Given the description of an element on the screen output the (x, y) to click on. 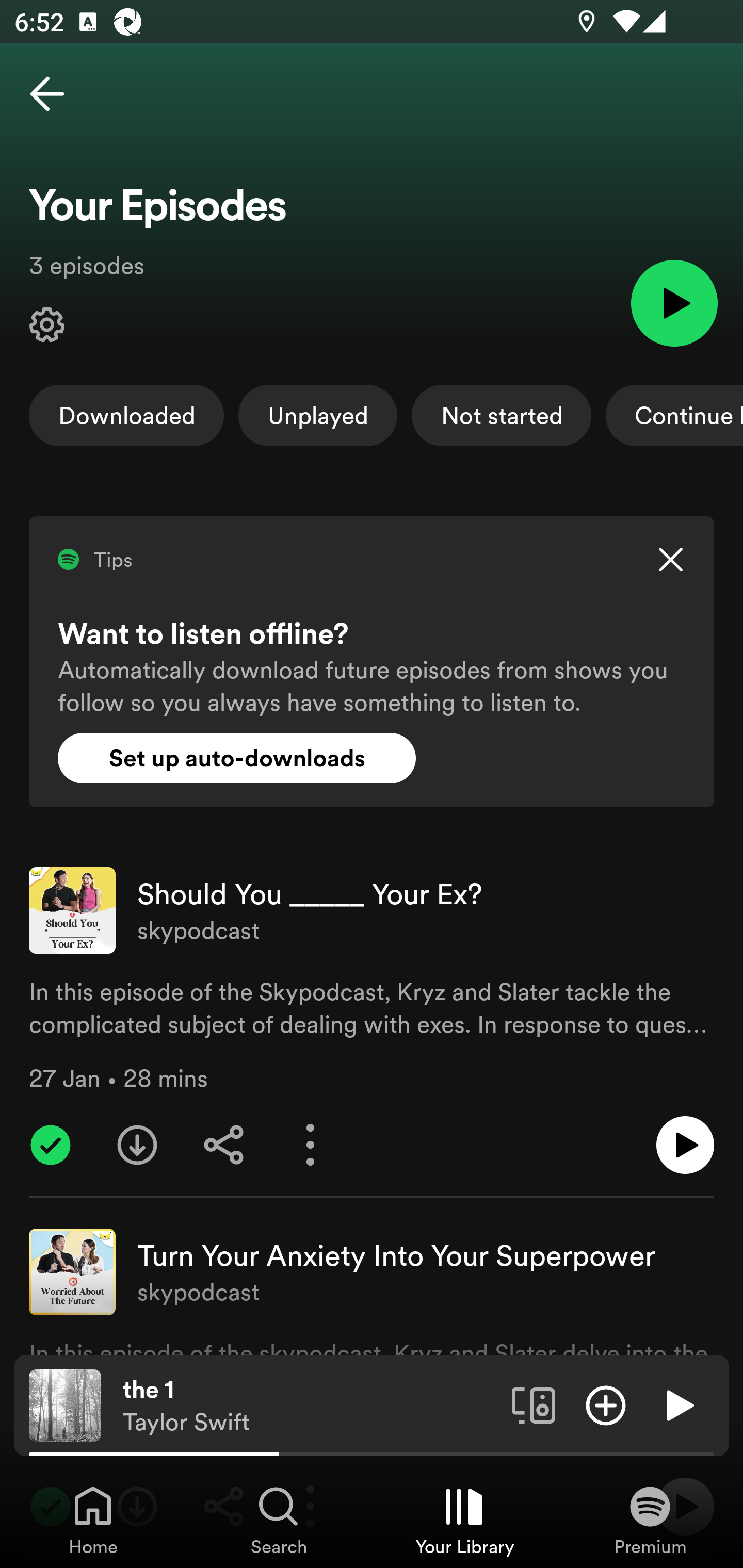
Back (46, 93)
Play (674, 302)
Your Episodes (46, 325)
Downloaded; show only downloaded episodes (125, 414)
Unplayed; show only unplayed episodes (317, 414)
Not started; show only not started episodes (501, 414)
Continue listening; show only episodes in progress (674, 414)
Dismiss (670, 559)
Set up auto-downloads (236, 758)
Should You _____ Your Ex? added to Your Episodes (50, 1145)
Download episode: Should You _____ Your Ex? (136, 1145)
Share (223, 1145)
More options for episode Should You _____ Your Ex? (310, 1145)
Play episode: Should You _____ Your Ex? (684, 1145)
the 1 Taylor Swift (309, 1405)
The cover art of the currently playing track (64, 1404)
Connect to a device. Opens the devices menu (533, 1404)
Add item (605, 1404)
Play (677, 1404)
Home, Tab 1 of 4 Home Home (92, 1519)
Search, Tab 2 of 4 Search Search (278, 1519)
Your Library, Tab 3 of 4 Your Library Your Library (464, 1519)
Premium, Tab 4 of 4 Premium Premium (650, 1519)
